Given the description of an element on the screen output the (x, y) to click on. 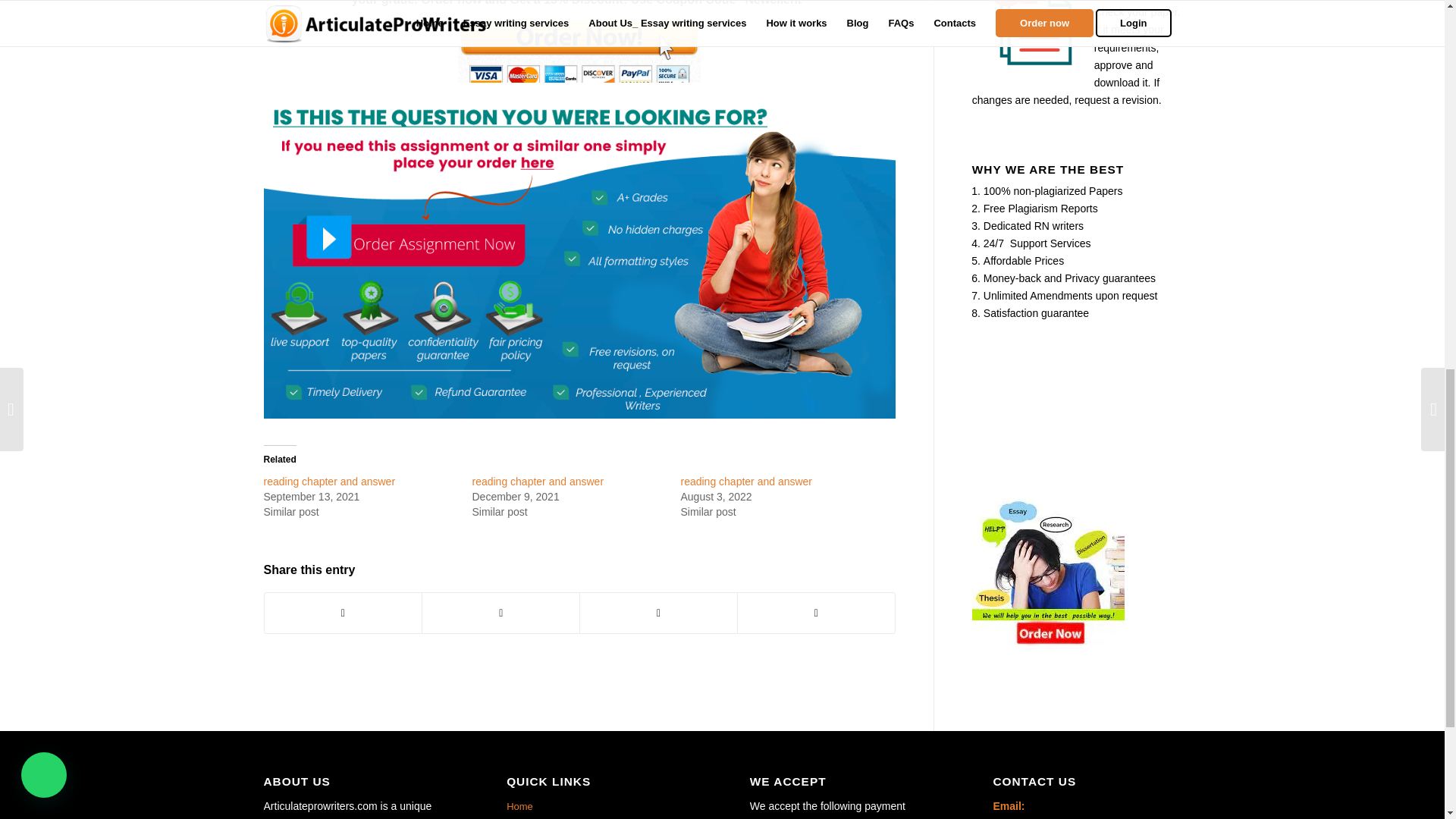
reading chapter and answer (745, 481)
reading chapter and answer (745, 481)
Home (600, 806)
reading chapter and answer (329, 481)
reading chapter and answer (329, 481)
reading chapter and answer (537, 481)
reading chapter and answer (537, 481)
